Given the description of an element on the screen output the (x, y) to click on. 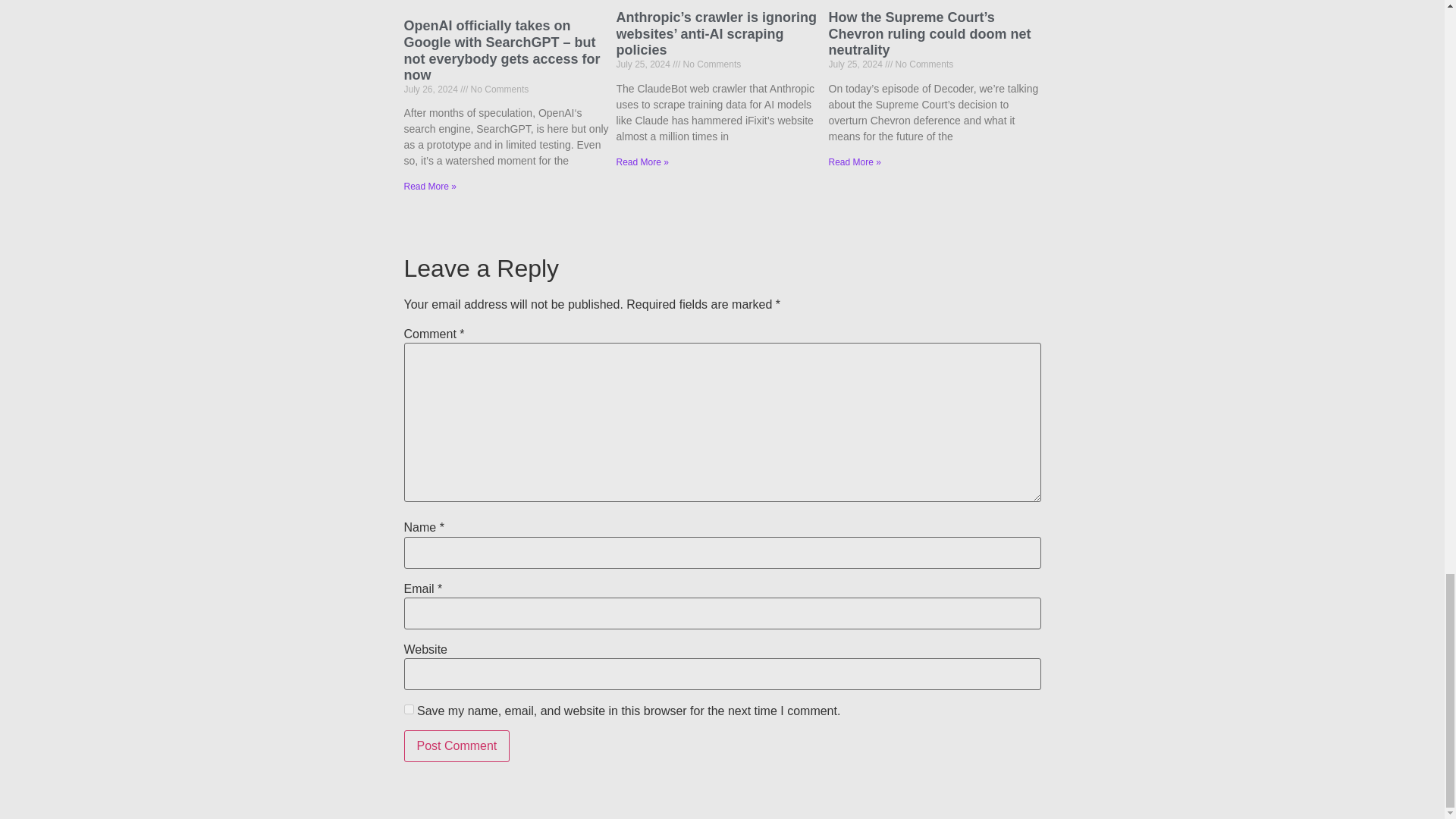
Post Comment (456, 746)
yes (408, 709)
Post Comment (456, 746)
